Given the description of an element on the screen output the (x, y) to click on. 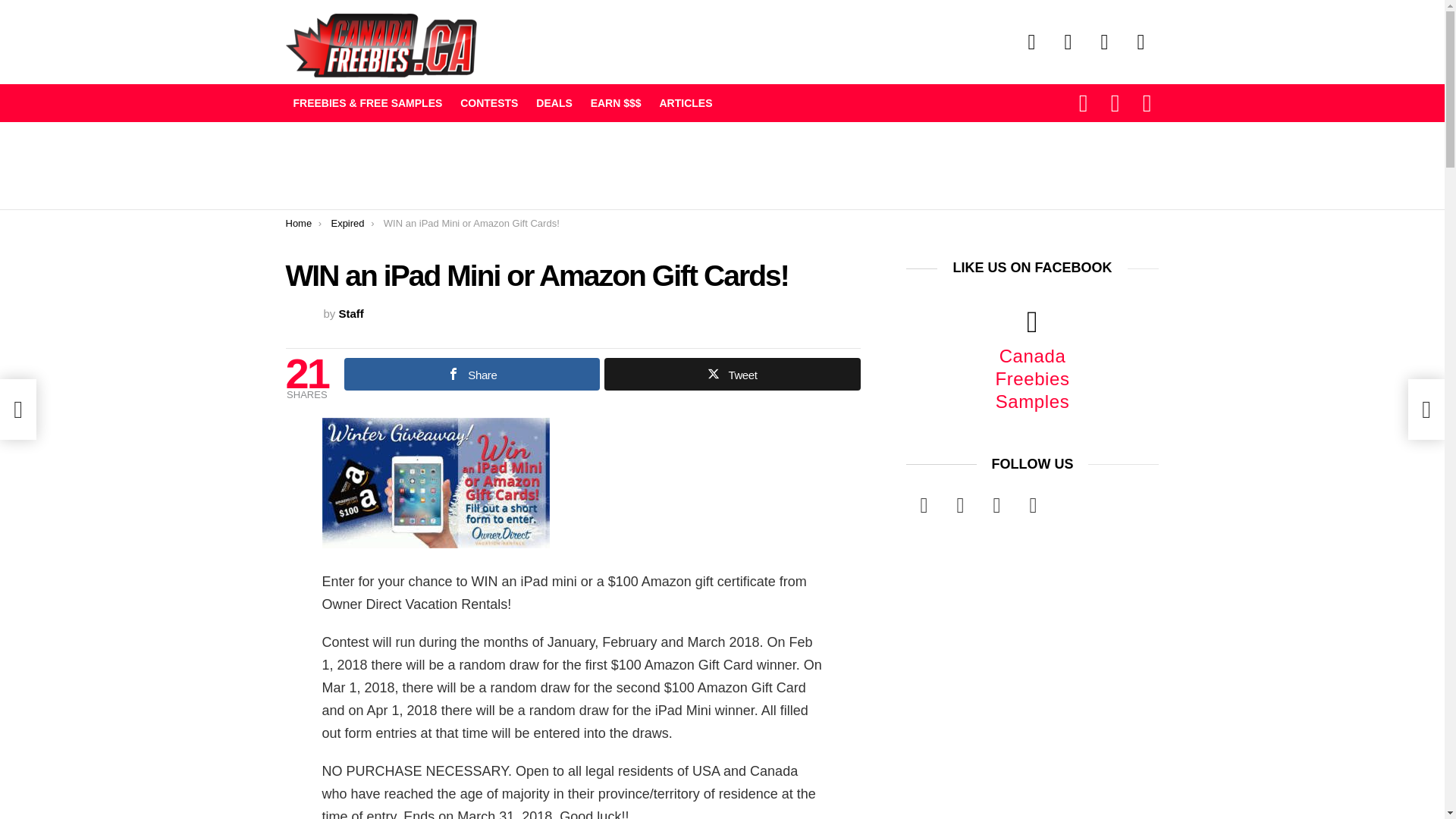
ARTICLES (684, 102)
Posts by Staff (351, 313)
Staff (351, 313)
CONTESTS (488, 102)
DEALS (553, 102)
Expired (347, 223)
Advertisement (561, 163)
Home (298, 223)
pinterest (1140, 42)
facebook (1031, 42)
